Given the description of an element on the screen output the (x, y) to click on. 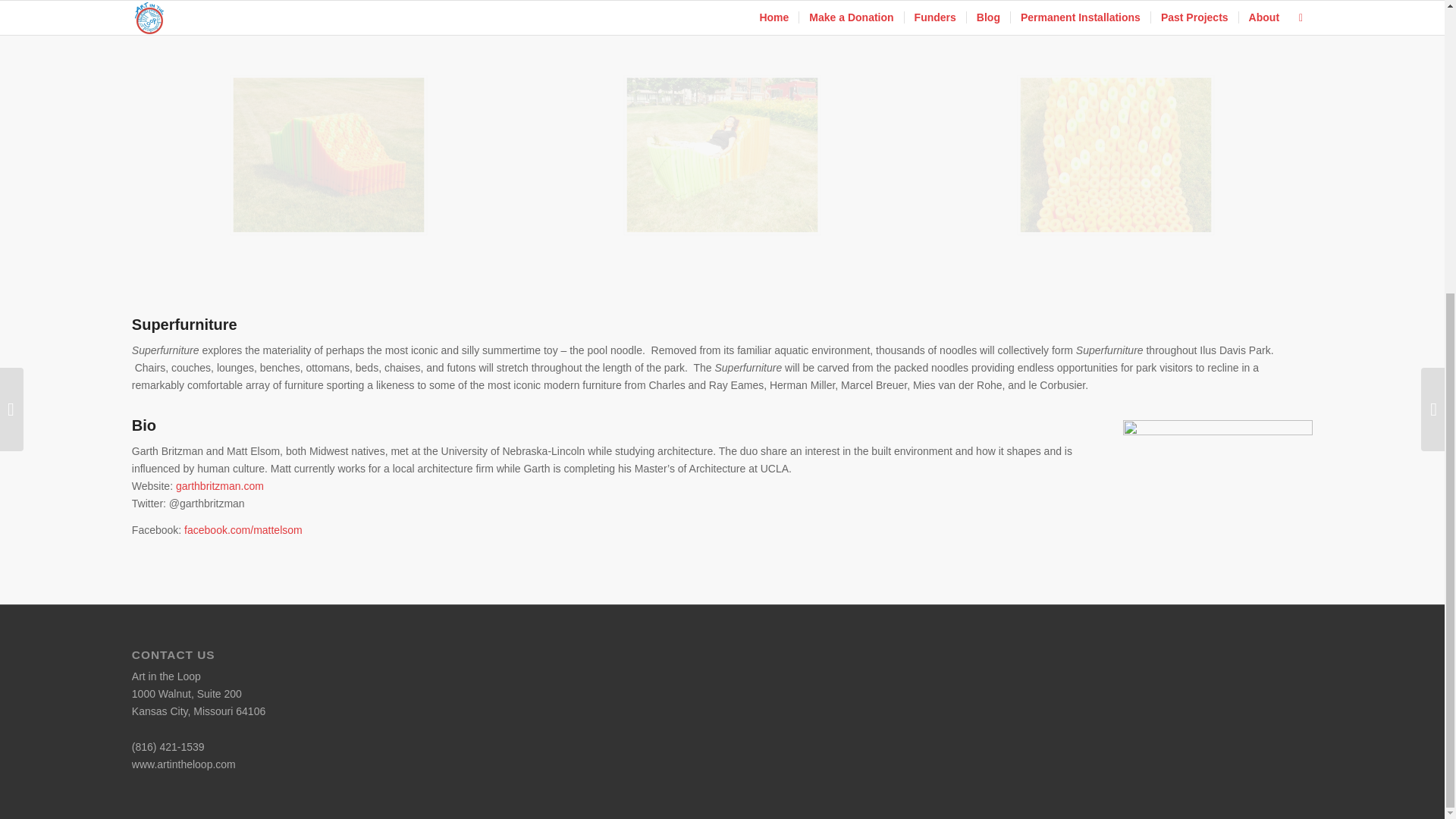
www.artintheloop.com (183, 764)
garthbritzman.com (219, 485)
